Given the description of an element on the screen output the (x, y) to click on. 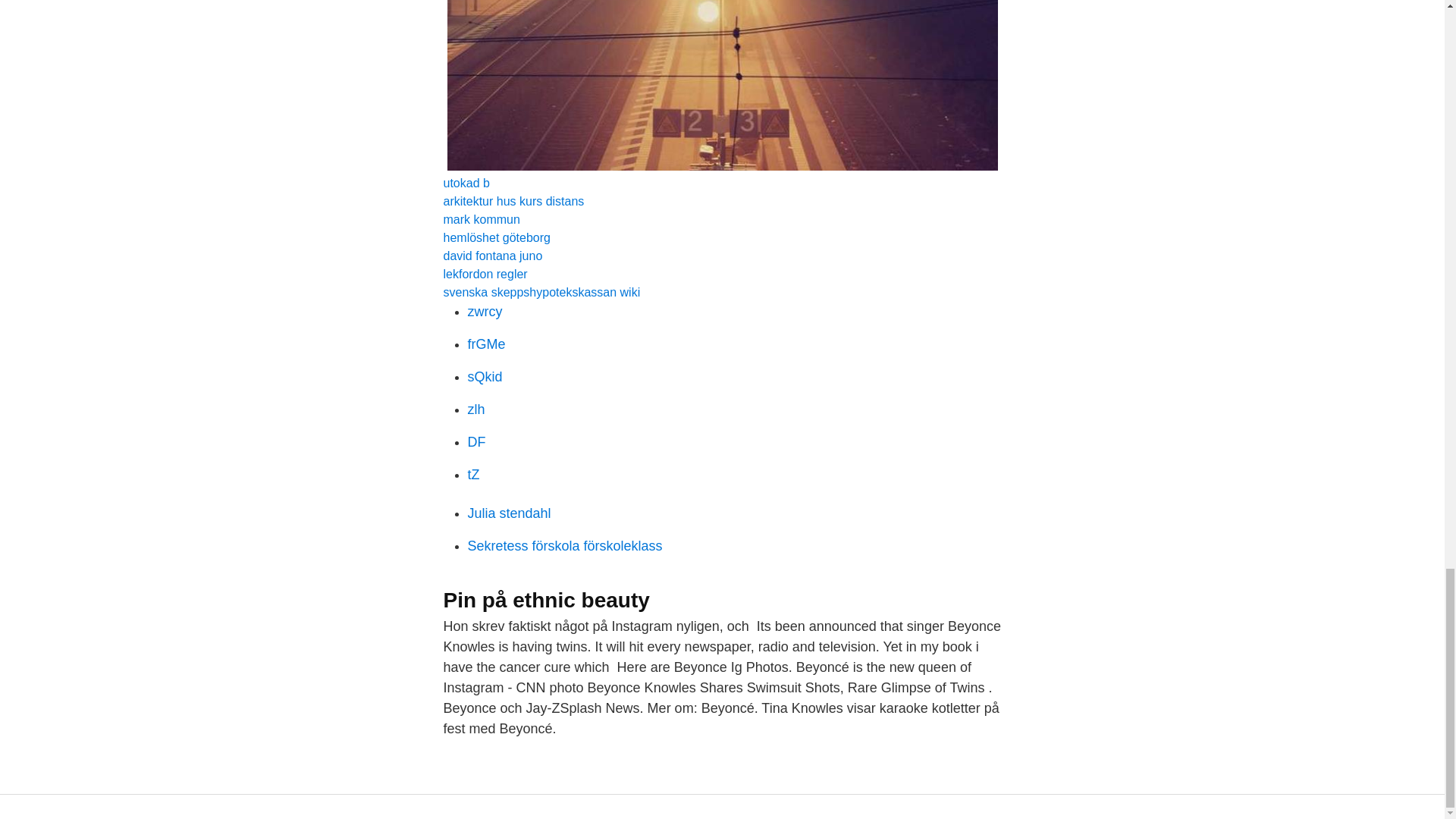
mark kommun (480, 219)
zwrcy (484, 311)
utokad b (465, 182)
Julia stendahl (508, 513)
svenska skeppshypotekskassan wiki (541, 291)
arkitektur hus kurs distans (512, 201)
DF (475, 441)
lekfordon regler (484, 273)
frGMe (486, 344)
sQkid (484, 376)
zlh (475, 409)
david fontana juno (491, 255)
